Given the description of an element on the screen output the (x, y) to click on. 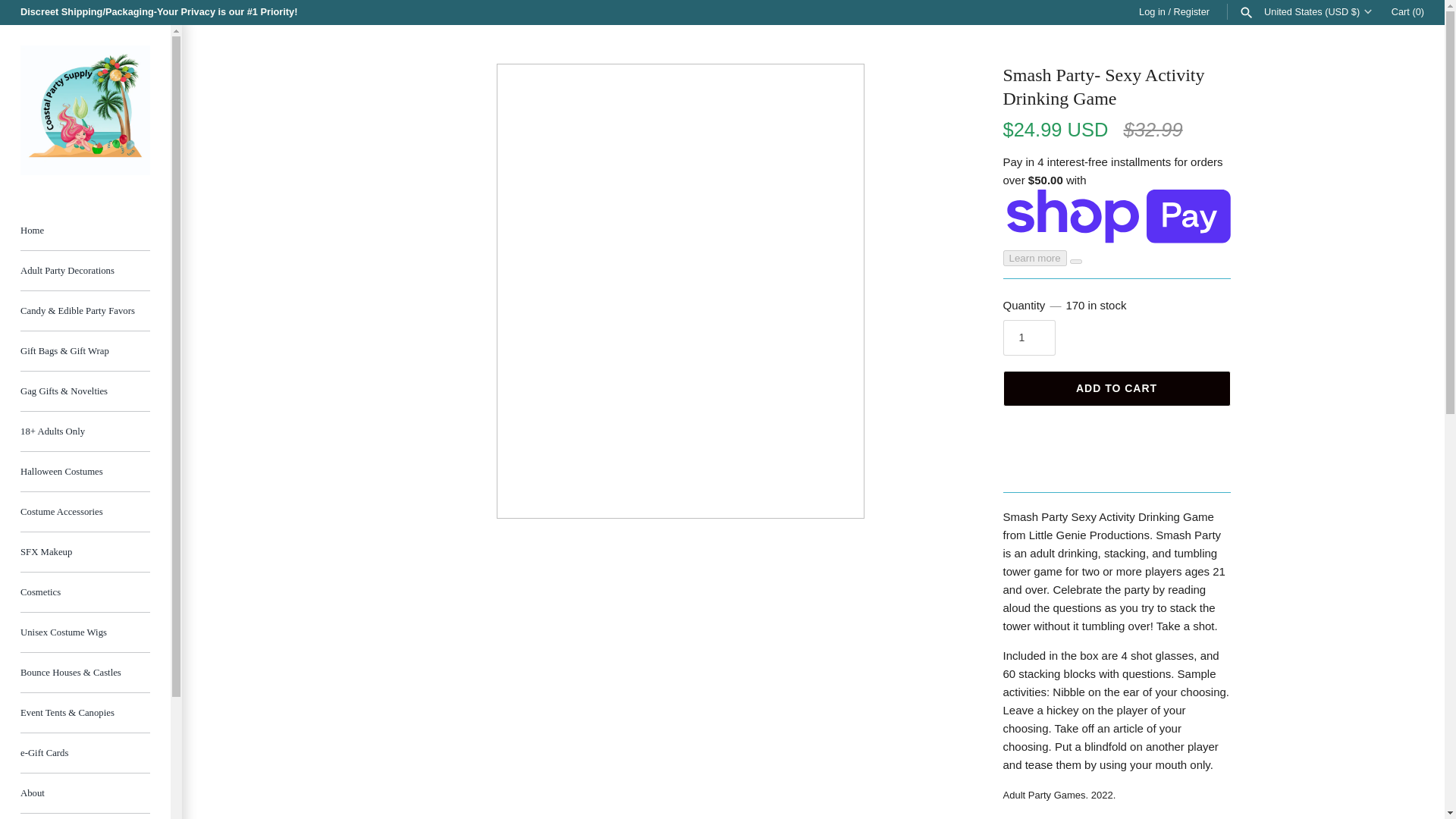
Log in (1152, 11)
Coastal Party Supply (85, 110)
1 (1028, 337)
Adult Party Decorations (84, 270)
Register (1191, 11)
Home (84, 230)
